Given the description of an element on the screen output the (x, y) to click on. 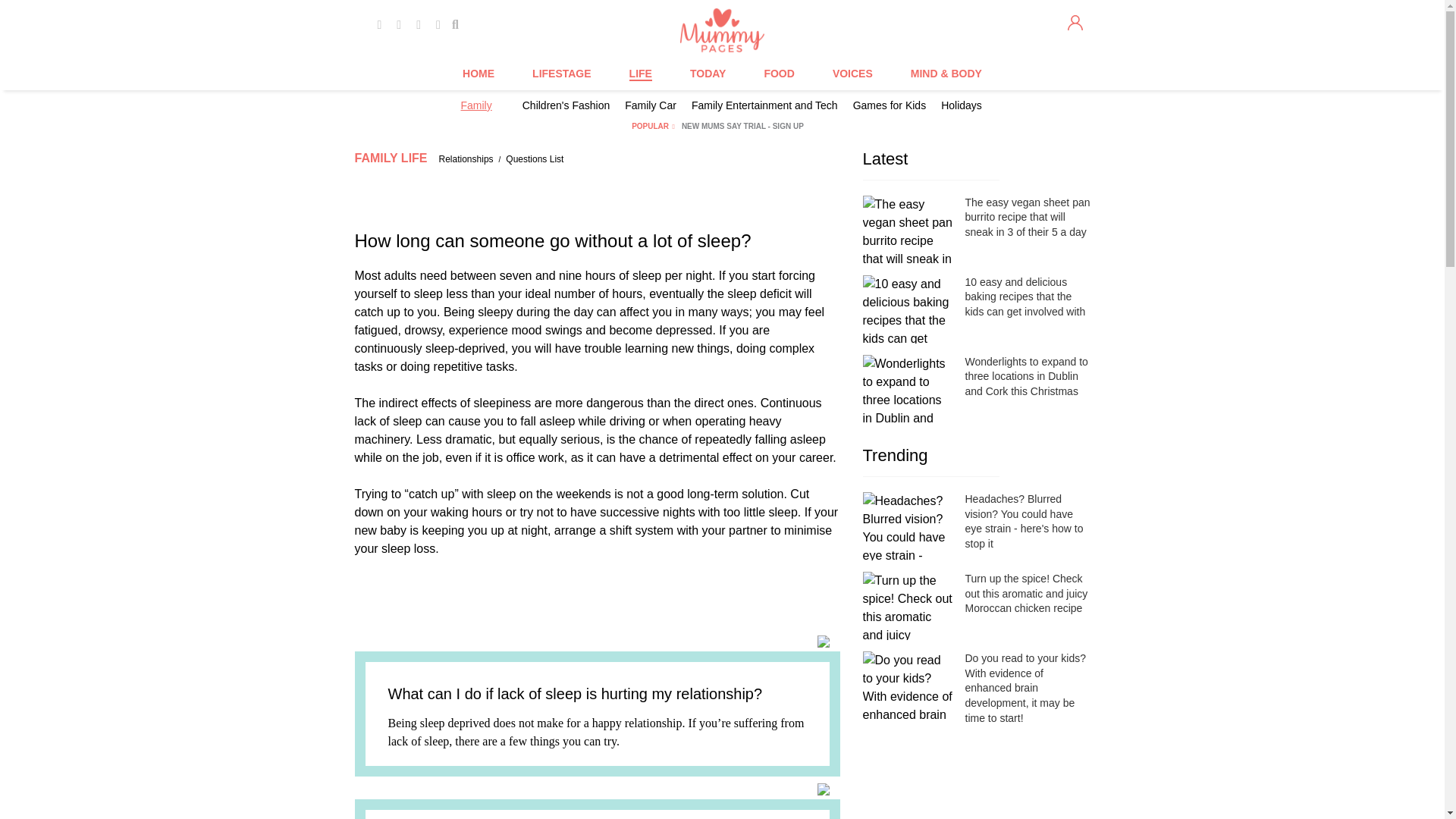
LIFE (640, 73)
FOOD (778, 73)
LIFESTAGE (561, 73)
TODAY (707, 73)
What can I do if lack of sleep is hurting my relationship? (575, 693)
HOME (478, 73)
